Given the description of an element on the screen output the (x, y) to click on. 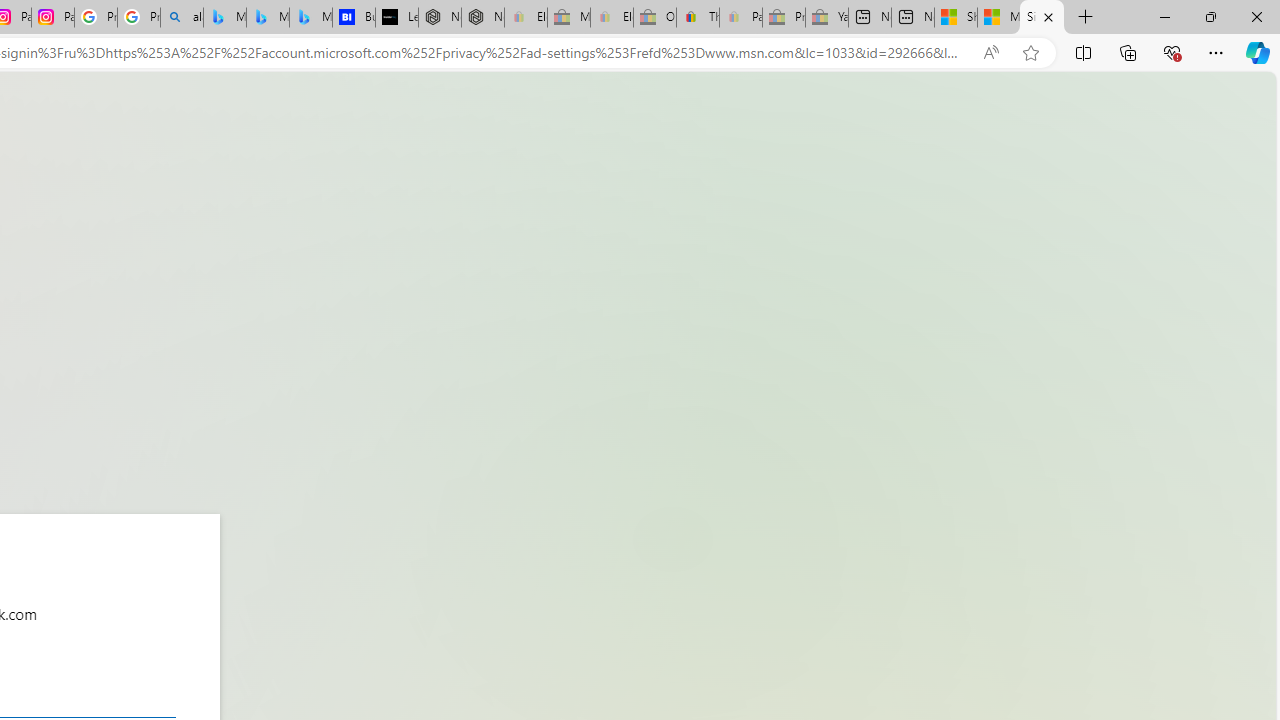
Yard, Garden & Outdoor Living - Sleeping (827, 17)
Microsoft Bing Travel - Flights from Hong Kong to Bangkok (224, 17)
Press Room - eBay Inc. - Sleeping (783, 17)
Microsoft Bing Travel - Shangri-La Hotel Bangkok (310, 17)
